Given the description of an element on the screen output the (x, y) to click on. 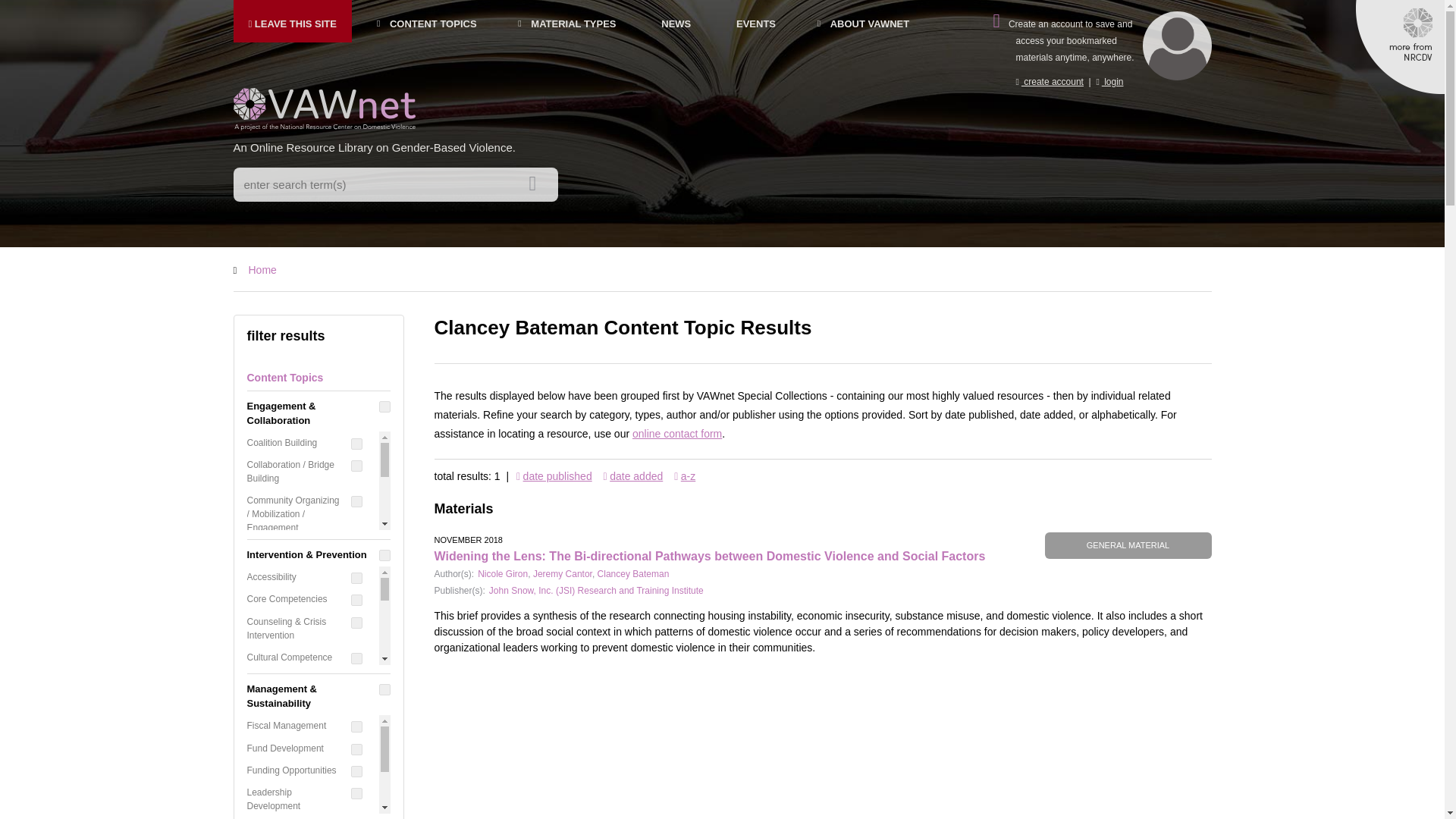
online contact form (676, 433)
EVENTS (759, 21)
  login (1109, 81)
  create account (1049, 81)
ABOUT VAWNET (869, 21)
NEWS (679, 21)
Home (262, 269)
login to VAWnet Member Account (1109, 81)
Click here to leave this site in case of an emergency (292, 21)
 date published (554, 476)
CONTENT TOPICS (431, 21)
Create a new VAWnet Member account (1049, 81)
LEAVE THIS SITE (292, 21)
Home (323, 125)
